Given the description of an element on the screen output the (x, y) to click on. 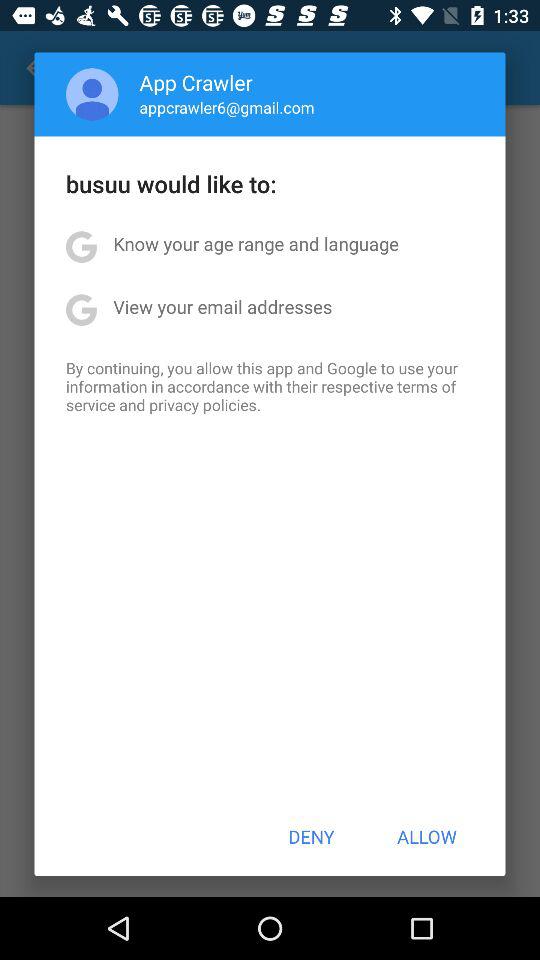
scroll to app crawler item (195, 82)
